Given the description of an element on the screen output the (x, y) to click on. 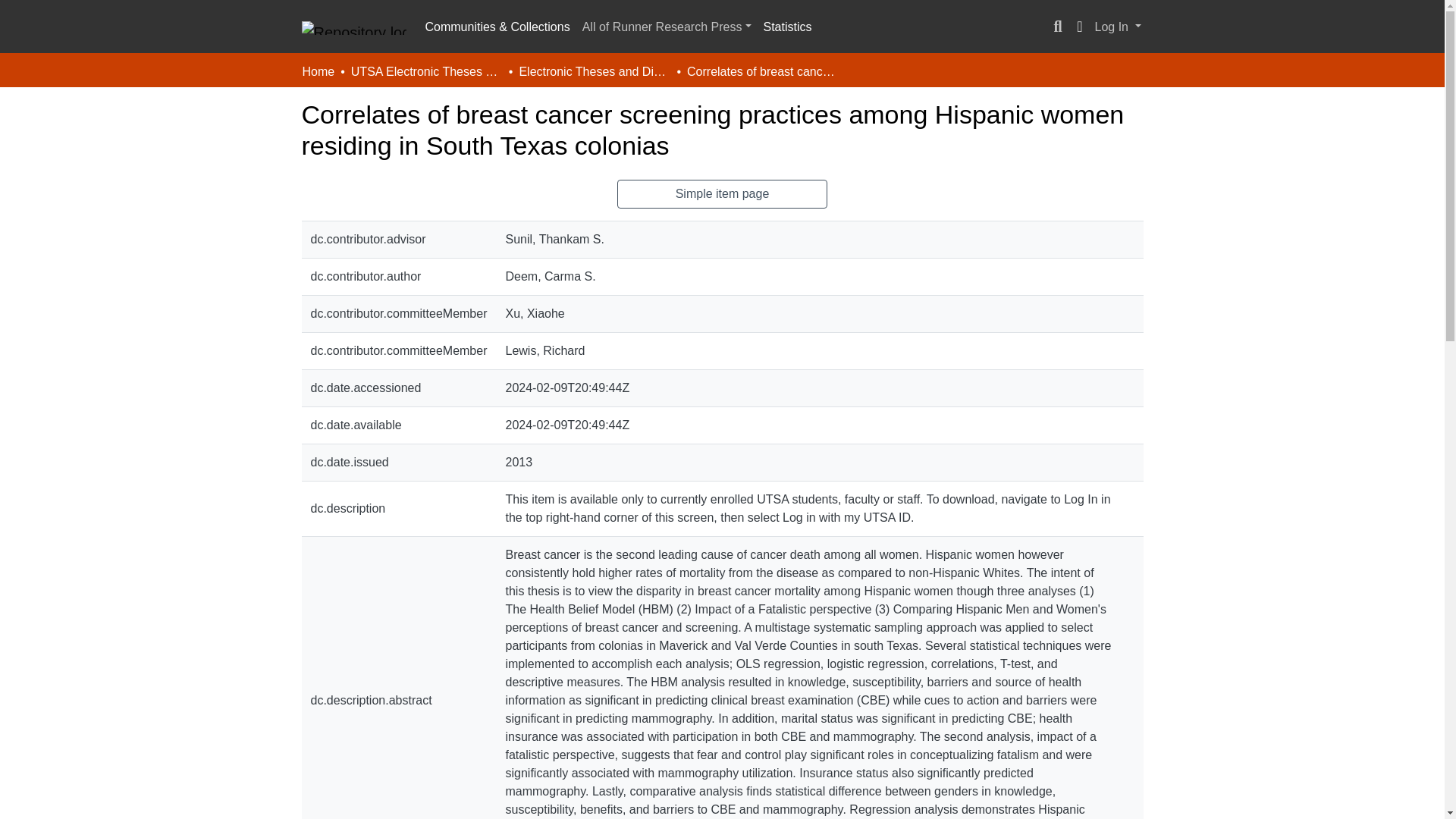
Home (317, 72)
UTSA Electronic Theses and Dissertations (426, 72)
Language switch (1079, 27)
Simple item page (722, 193)
Electronic Theses and Dissertations - UTSA Access Only (593, 72)
Search (1057, 27)
All of Runner Research Press (666, 27)
Statistics (786, 27)
Log In (1117, 26)
Statistics (786, 27)
